Given the description of an element on the screen output the (x, y) to click on. 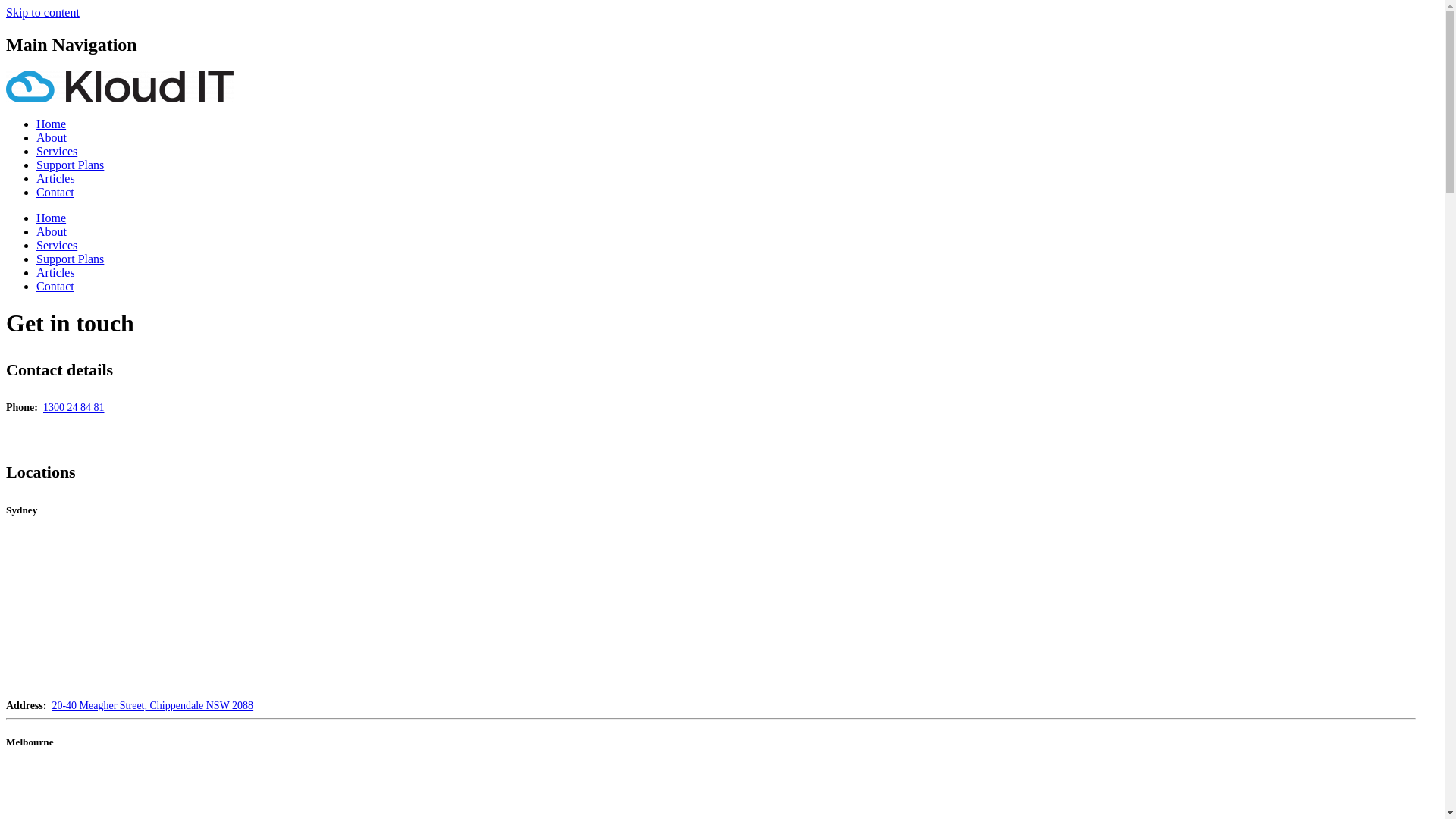
Articles Element type: text (55, 178)
Support Plans Element type: text (69, 258)
Services Element type: text (56, 150)
Services Element type: text (56, 244)
About Element type: text (51, 137)
20-40 Meagher Street, Chippendale NSW 2088 Element type: text (152, 705)
Kloud IT Element type: hover (119, 97)
1300 24 84 81 Element type: text (73, 407)
About Element type: text (51, 231)
Support Plans Element type: text (69, 164)
Home Element type: text (50, 123)
Home Element type: text (50, 217)
Contact Element type: text (55, 285)
Articles Element type: text (55, 272)
Skip to content Element type: text (42, 12)
Contact Element type: text (55, 191)
